Given the description of an element on the screen output the (x, y) to click on. 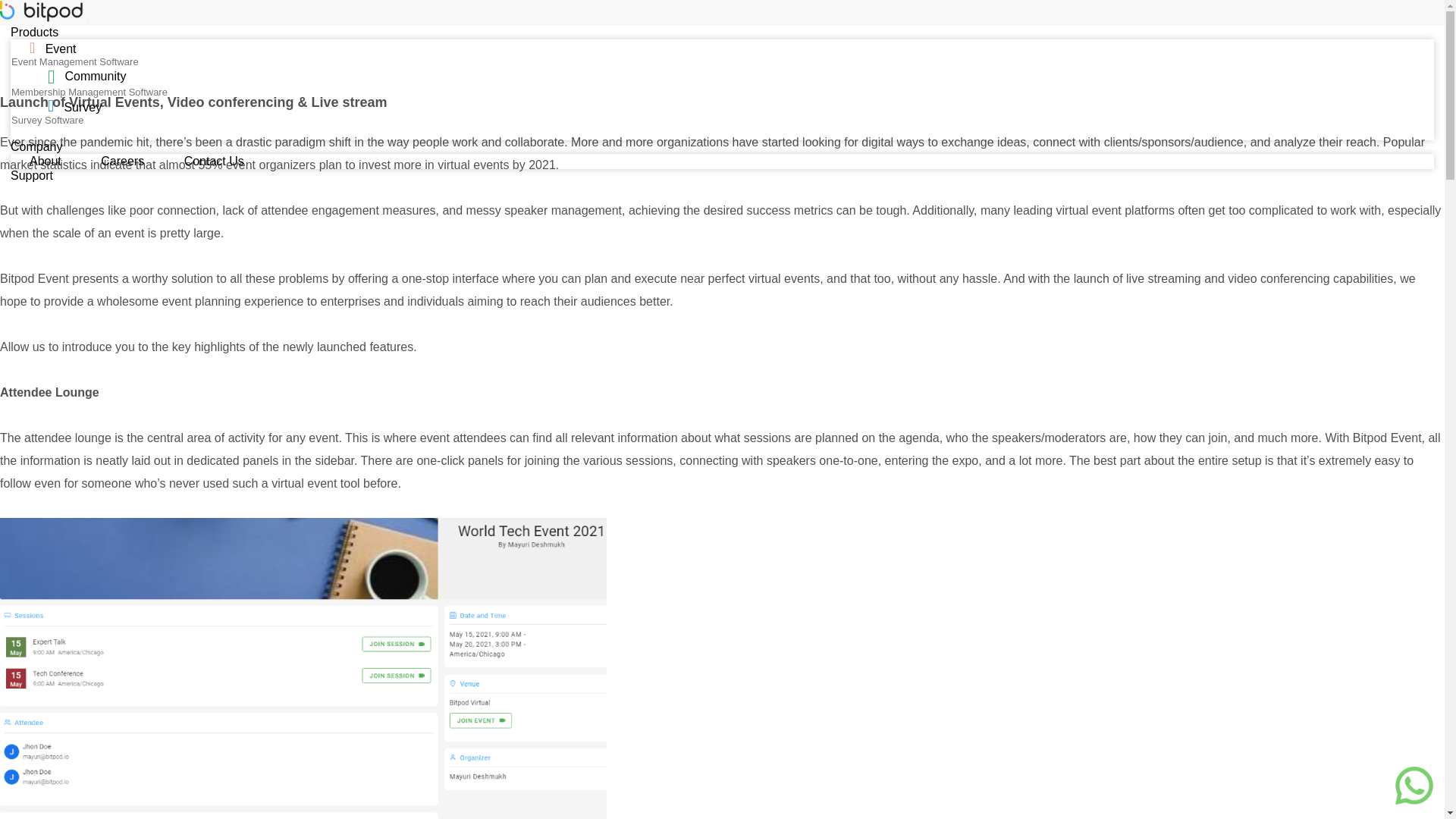
Careers (123, 160)
About (46, 160)
Contact Us (213, 160)
Company (36, 146)
Support (31, 174)
Products (721, 91)
